Given the description of an element on the screen output the (x, y) to click on. 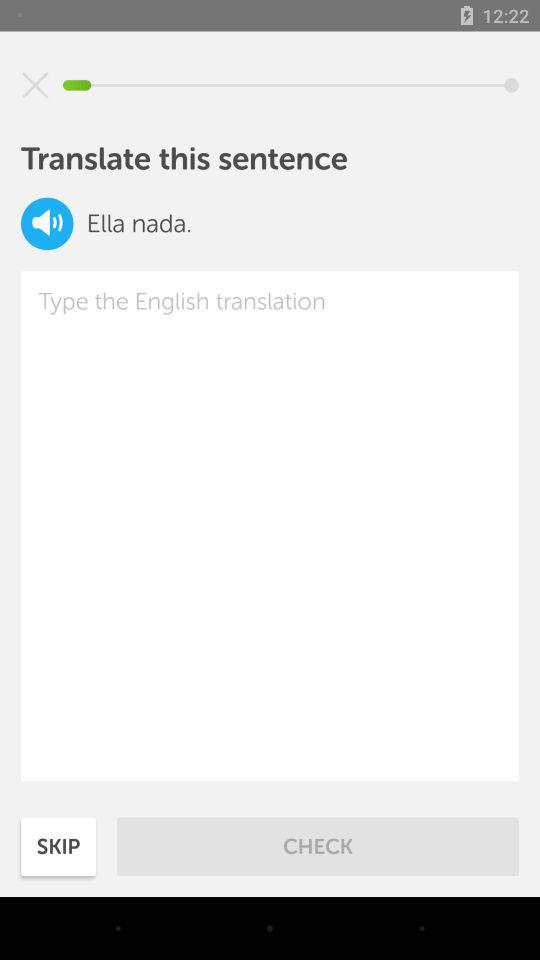
select the icon above translate this sentence (35, 85)
